Given the description of an element on the screen output the (x, y) to click on. 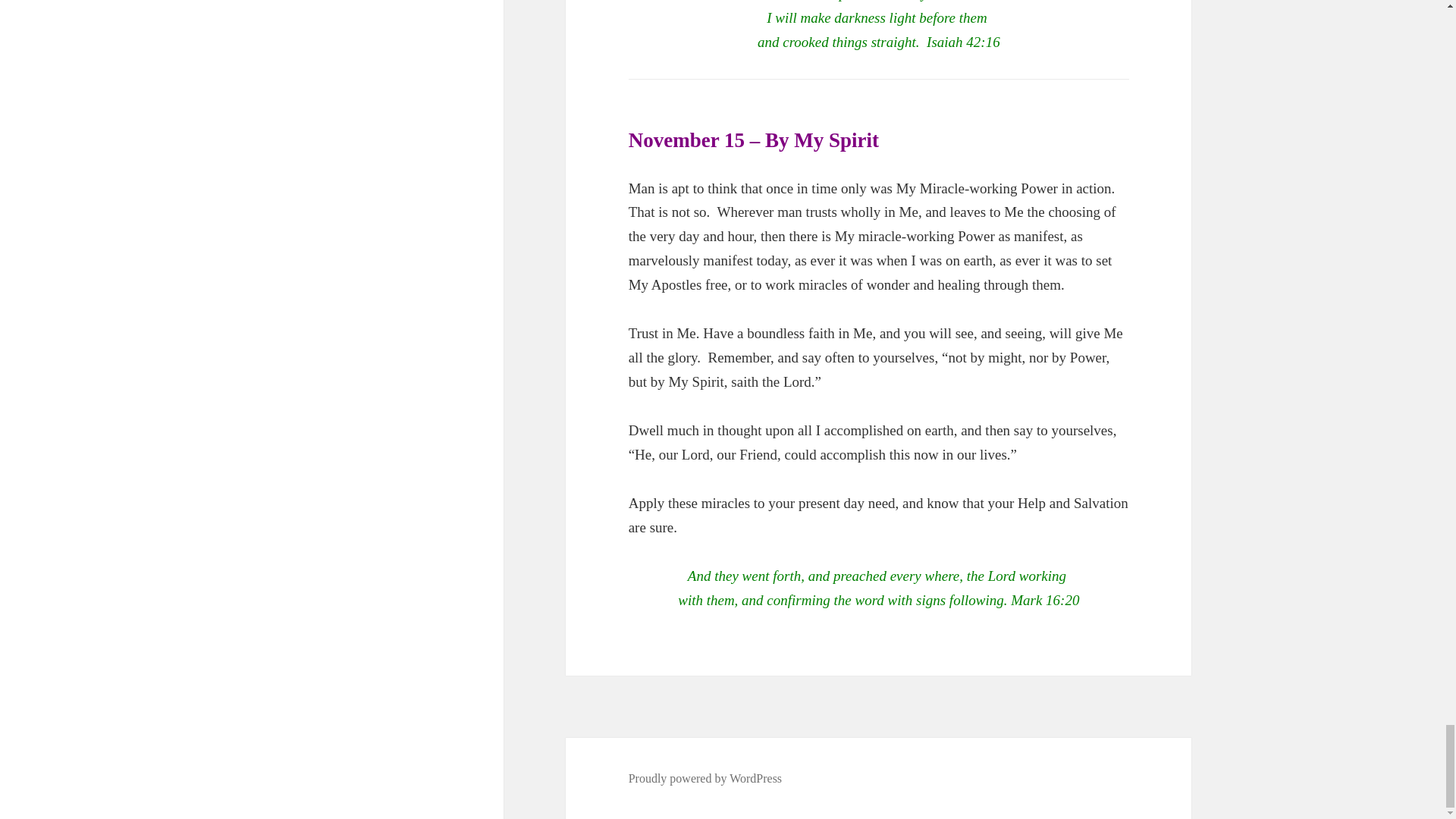
Proudly powered by WordPress (704, 778)
